Given the description of an element on the screen output the (x, y) to click on. 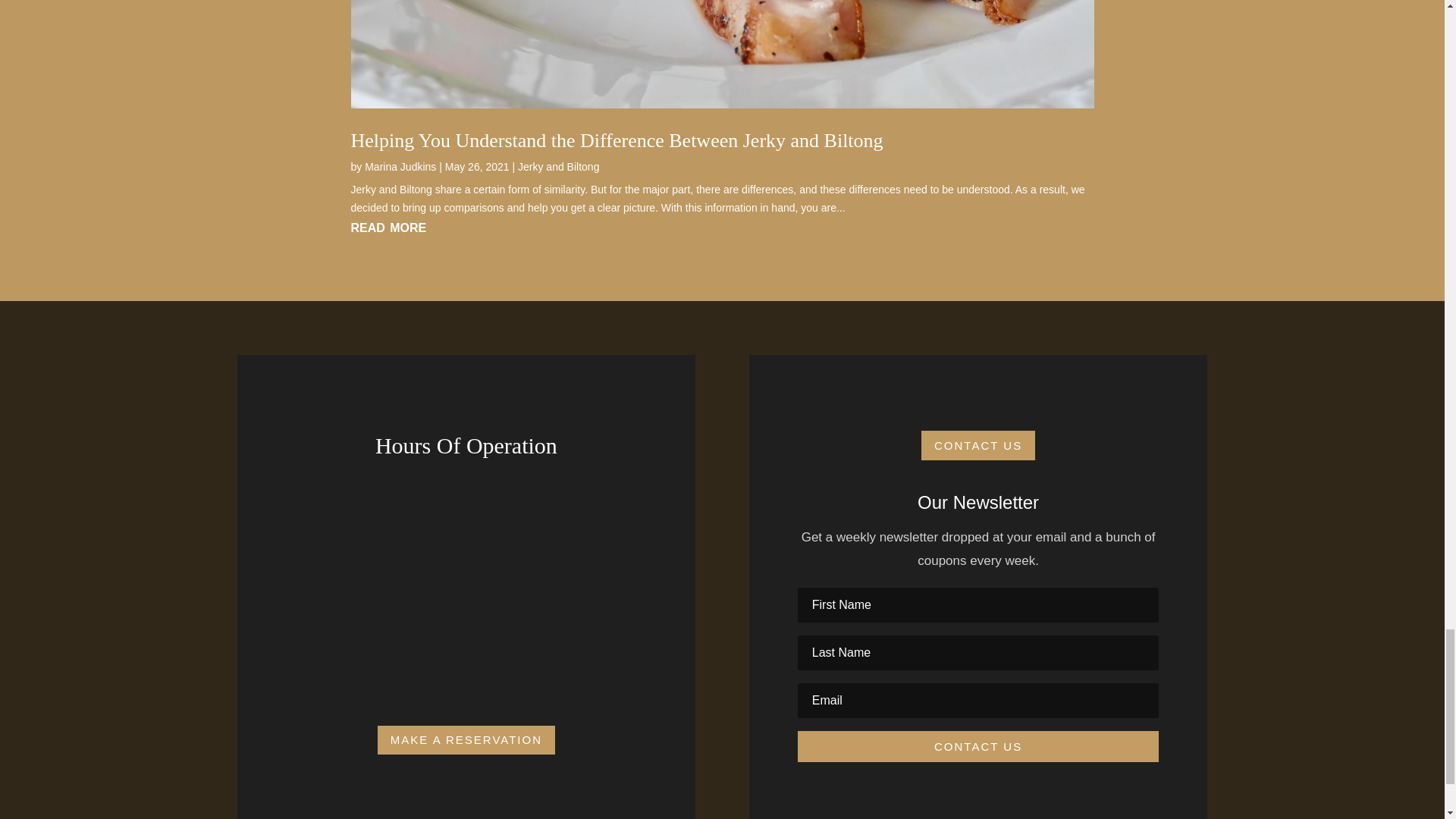
Jerky and Biltong (558, 166)
CONTACT US (978, 445)
Marina Judkins (400, 166)
read more (721, 226)
CONTACT US (977, 746)
Posts by Marina Judkins (400, 166)
MAKE A RESERVATION (465, 740)
